Given the description of an element on the screen output the (x, y) to click on. 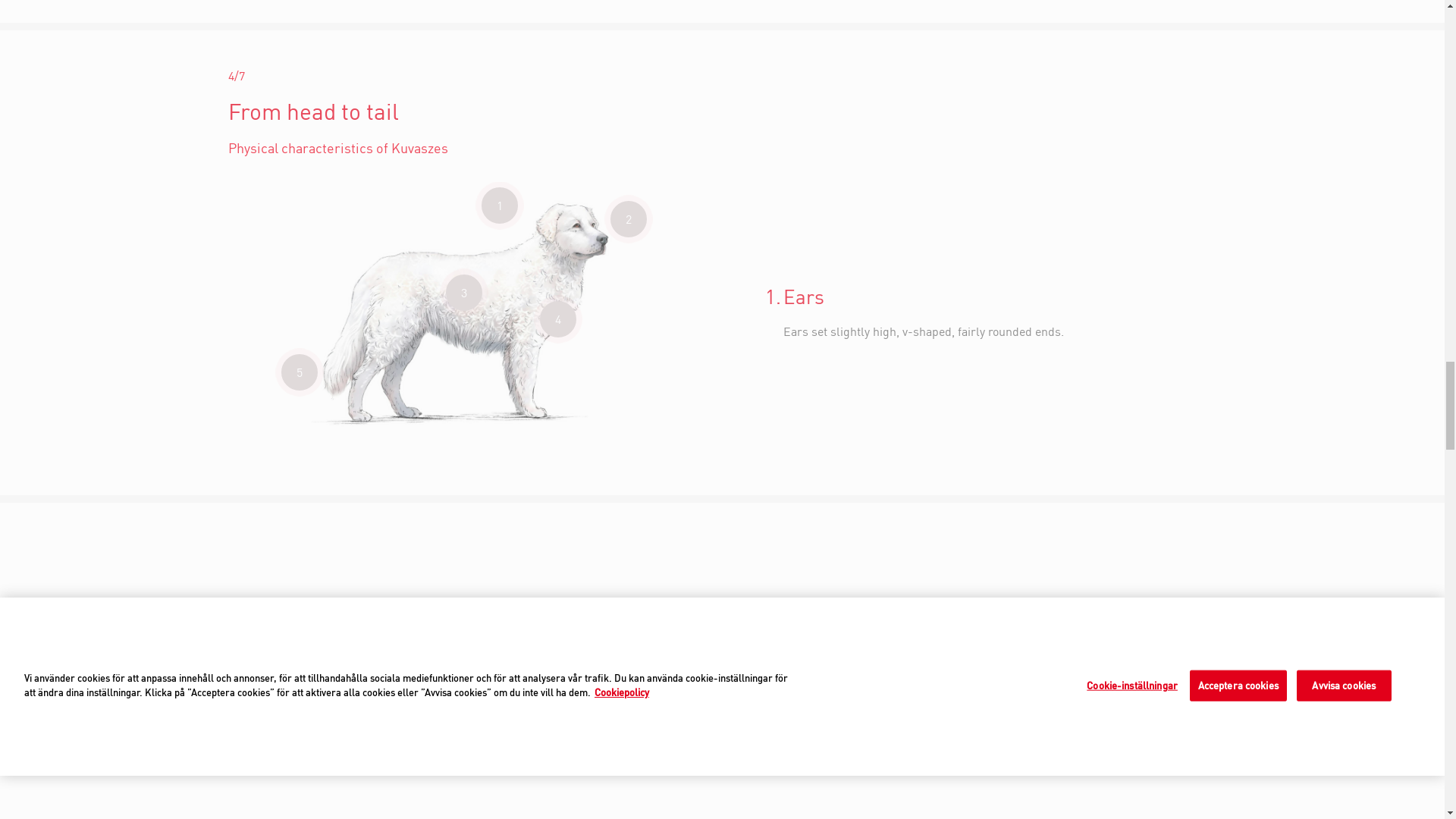
4 (558, 319)
2 (628, 218)
1 (499, 205)
5 (299, 371)
3 (463, 292)
